Given the description of an element on the screen output the (x, y) to click on. 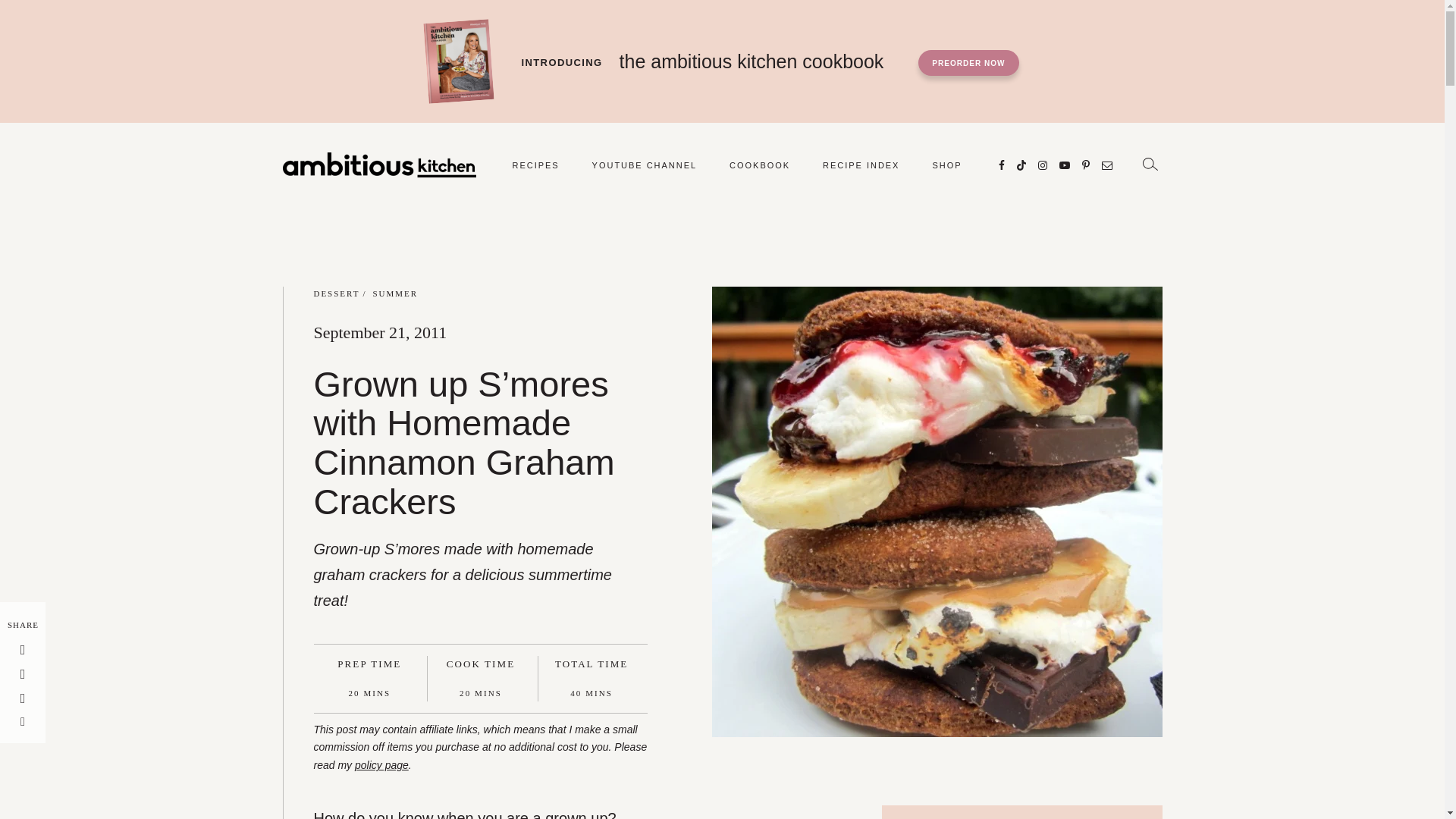
Subscribe! (1063, 164)
Recipes (535, 165)
